Given the description of an element on the screen output the (x, y) to click on. 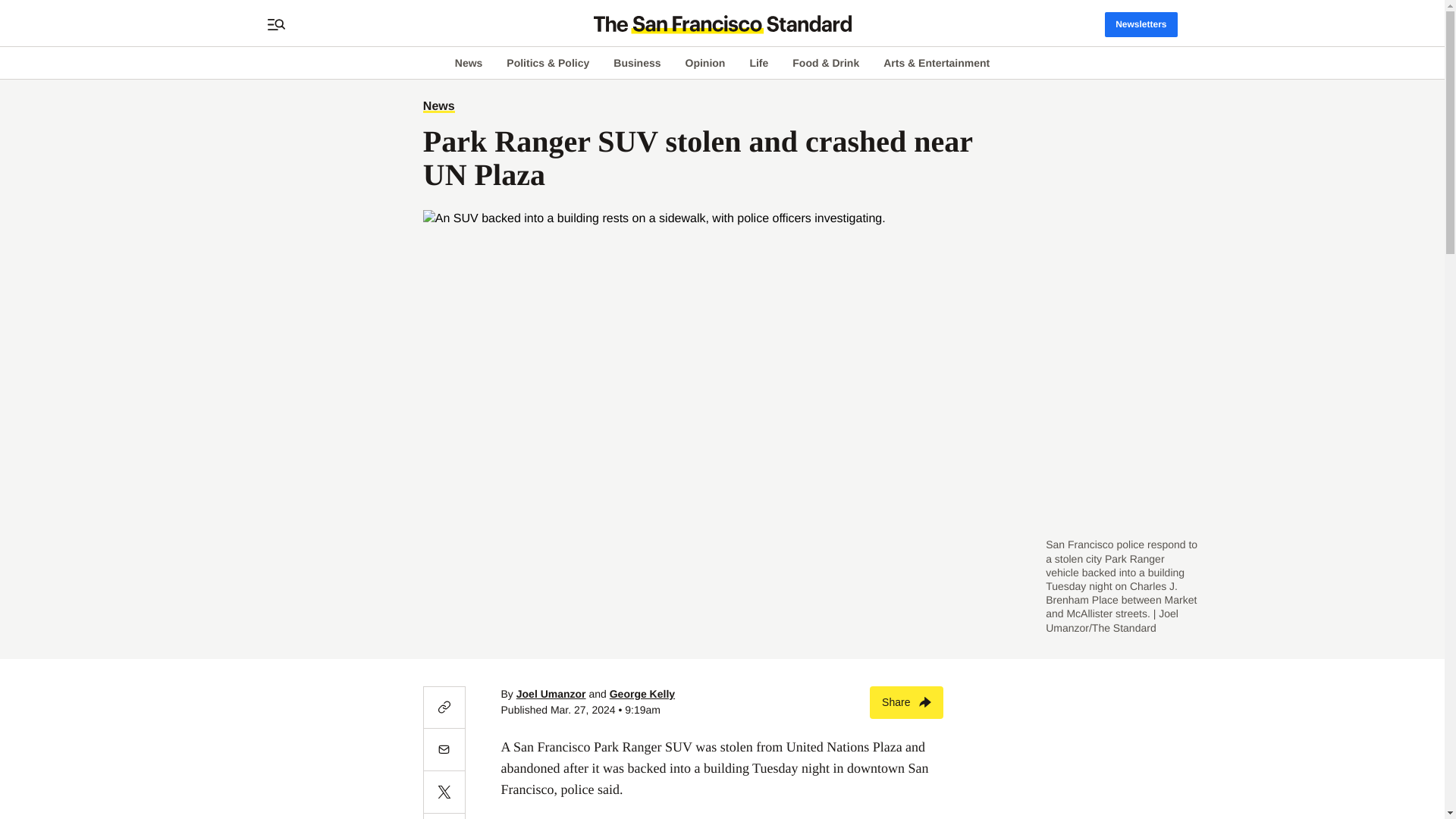
Open search bar and full menu (275, 24)
Share (906, 702)
Joel Umanzor (551, 693)
Newsletters (1140, 24)
Life (758, 62)
George Kelly (642, 693)
Opinion (705, 62)
Business (636, 62)
News (438, 106)
News (468, 62)
Copy link to this article (444, 707)
